Given the description of an element on the screen output the (x, y) to click on. 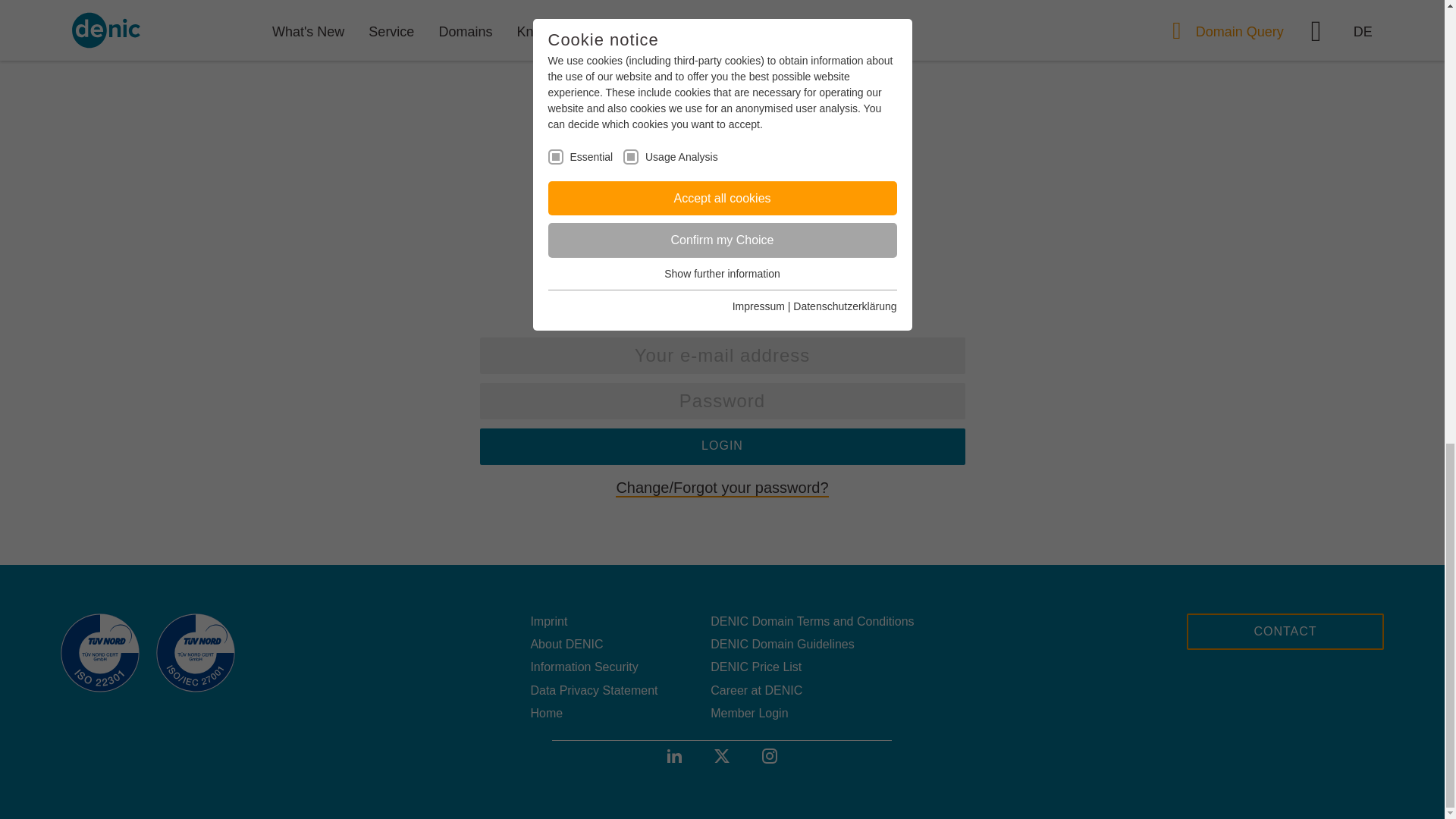
Login (721, 446)
